Given the description of an element on the screen output the (x, y) to click on. 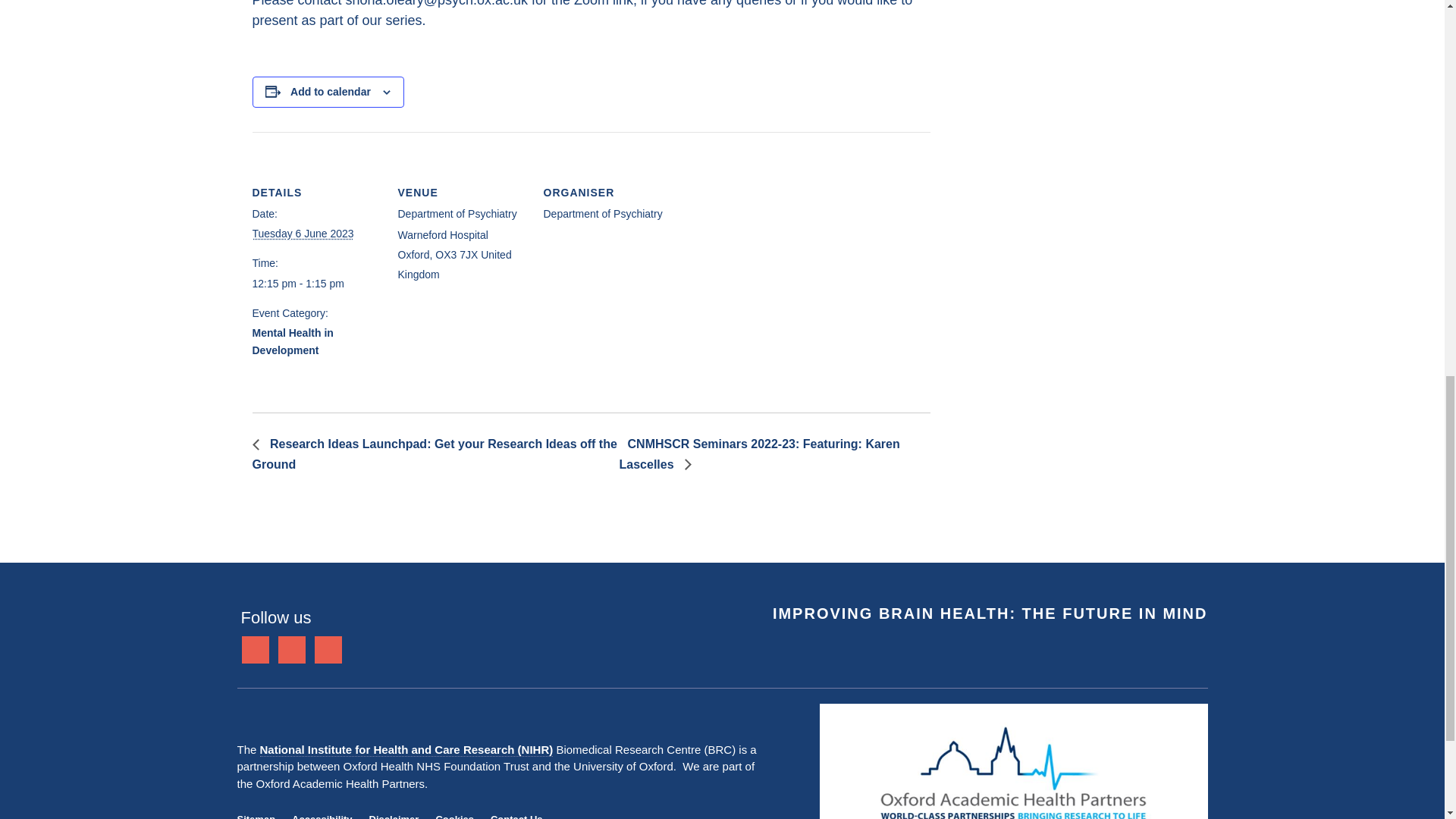
2023-06-06 (314, 283)
2023-06-06 (302, 233)
